Given the description of an element on the screen output the (x, y) to click on. 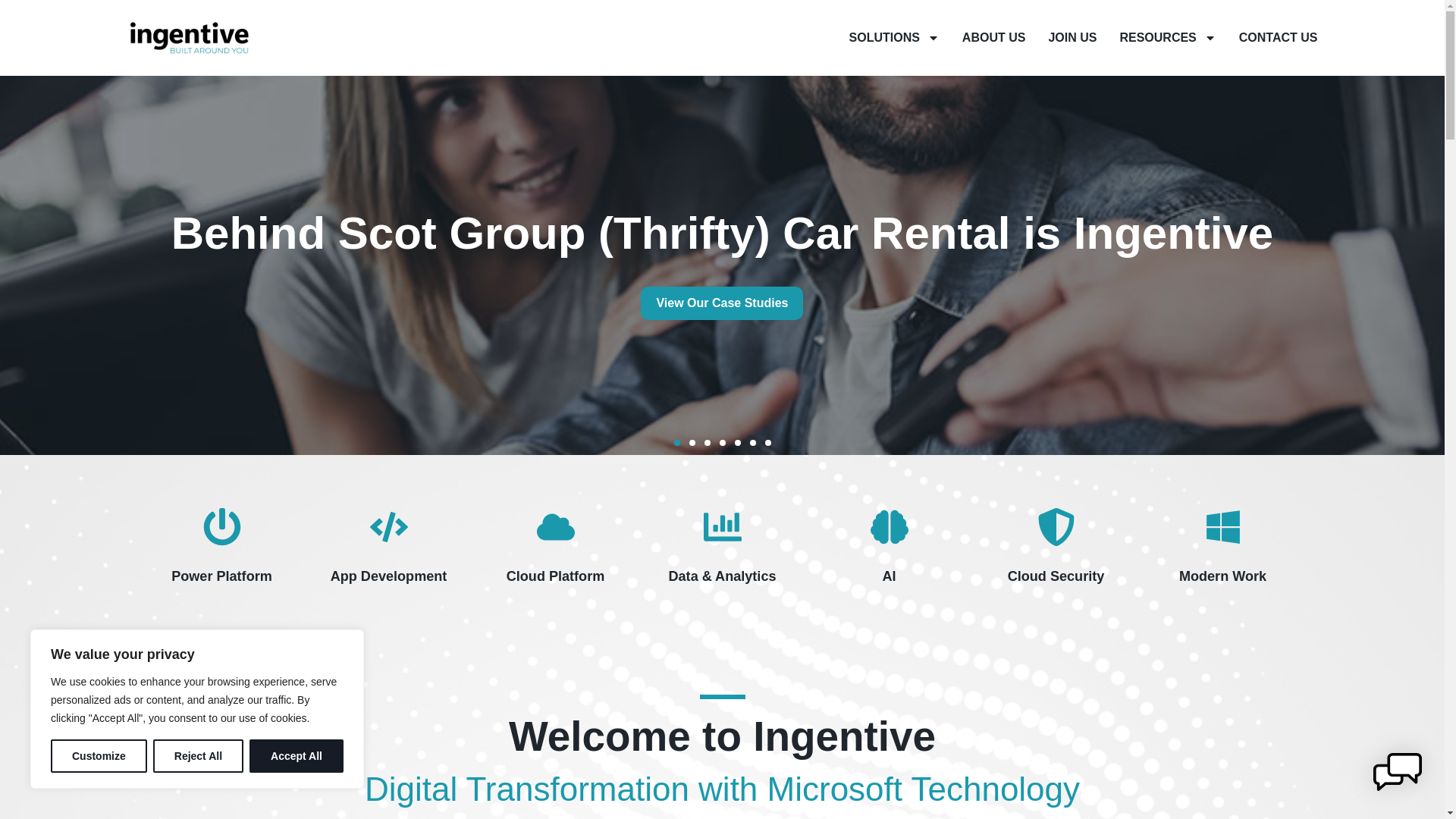
ABOUT US (993, 37)
Customize (98, 756)
Accept All (295, 756)
RESOURCES (1167, 37)
Reject All (197, 756)
JOIN US (1072, 37)
SOLUTIONS (894, 37)
CONTACT US (1278, 37)
